Given the description of an element on the screen output the (x, y) to click on. 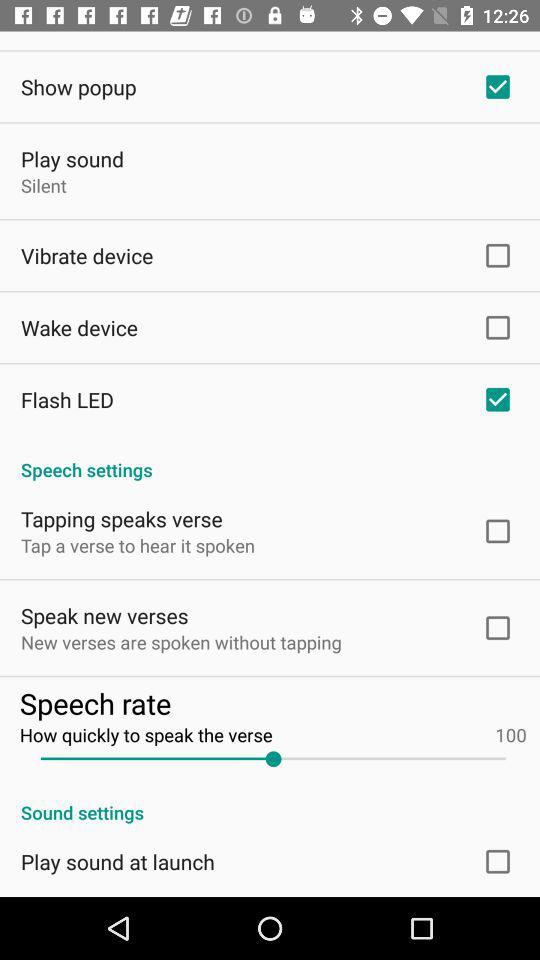
press the app above wake device (87, 255)
